Given the description of an element on the screen output the (x, y) to click on. 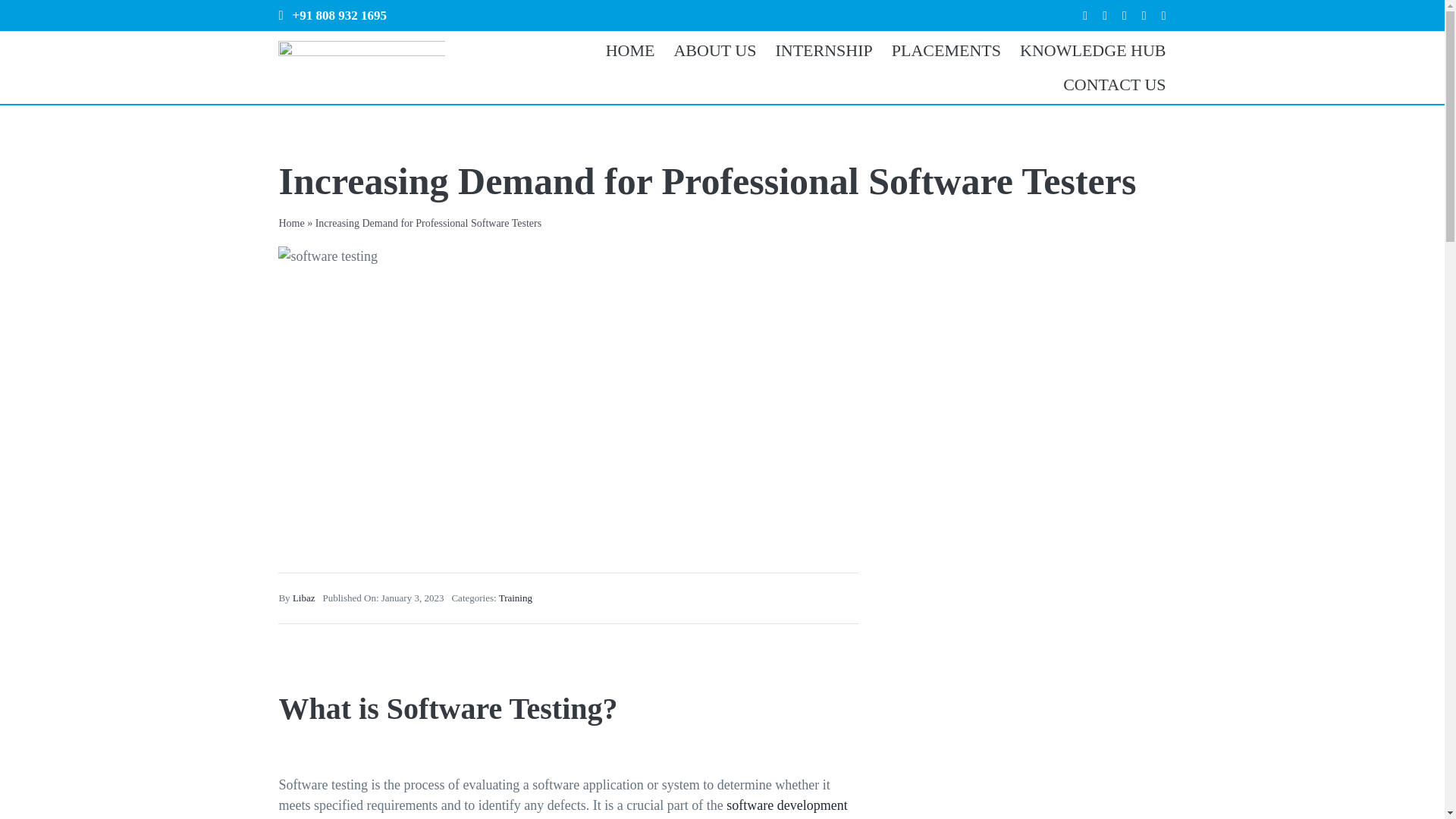
Softloom (620, 50)
ABOUT US (704, 50)
INTERNSHIP (813, 50)
HOME (620, 50)
Posts by Libaz (303, 597)
